Given the description of an element on the screen output the (x, y) to click on. 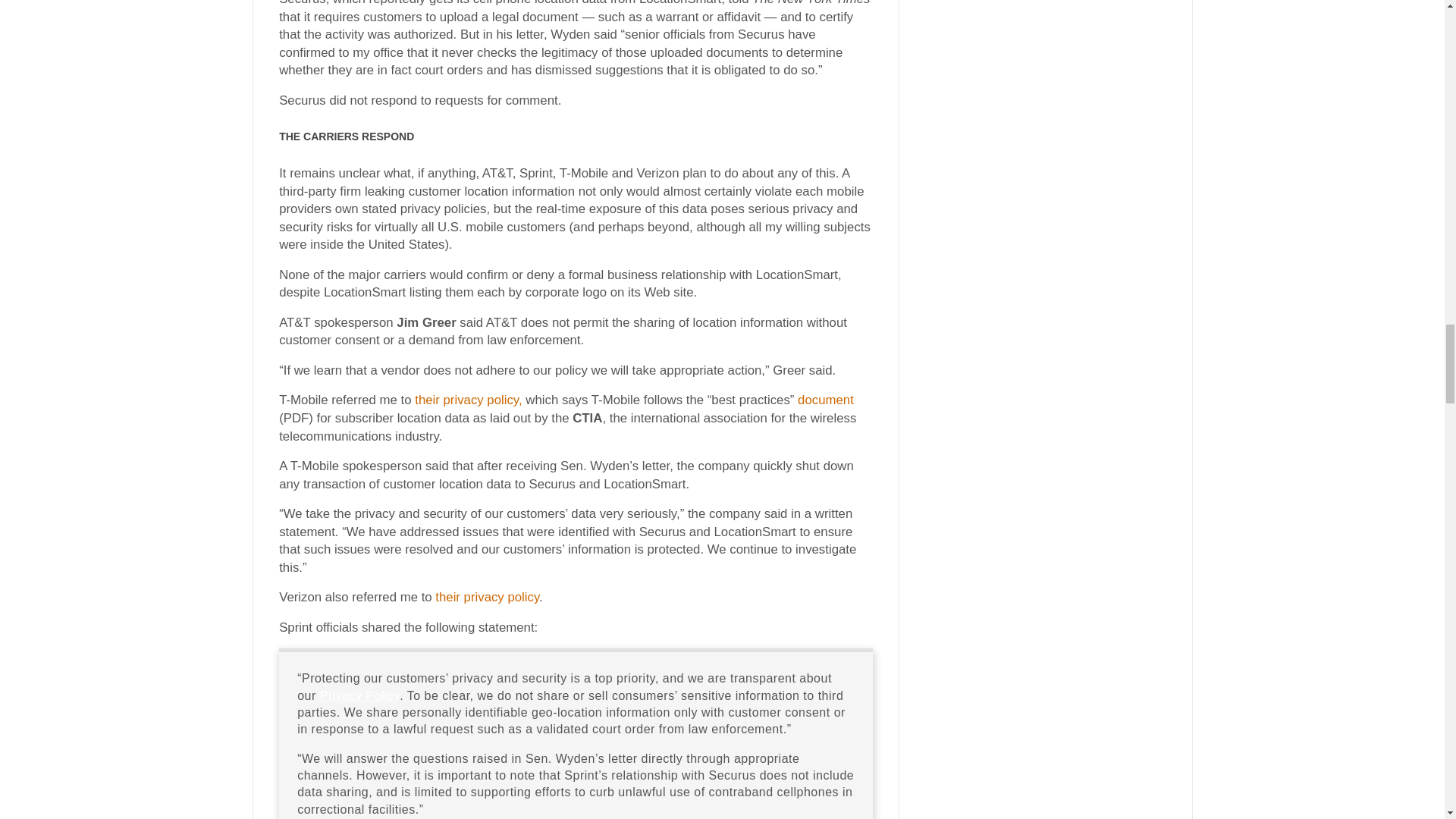
Privacy Policy (359, 695)
their privacy policy (486, 596)
their privacy policy, (467, 400)
document (825, 400)
